Given the description of an element on the screen output the (x, y) to click on. 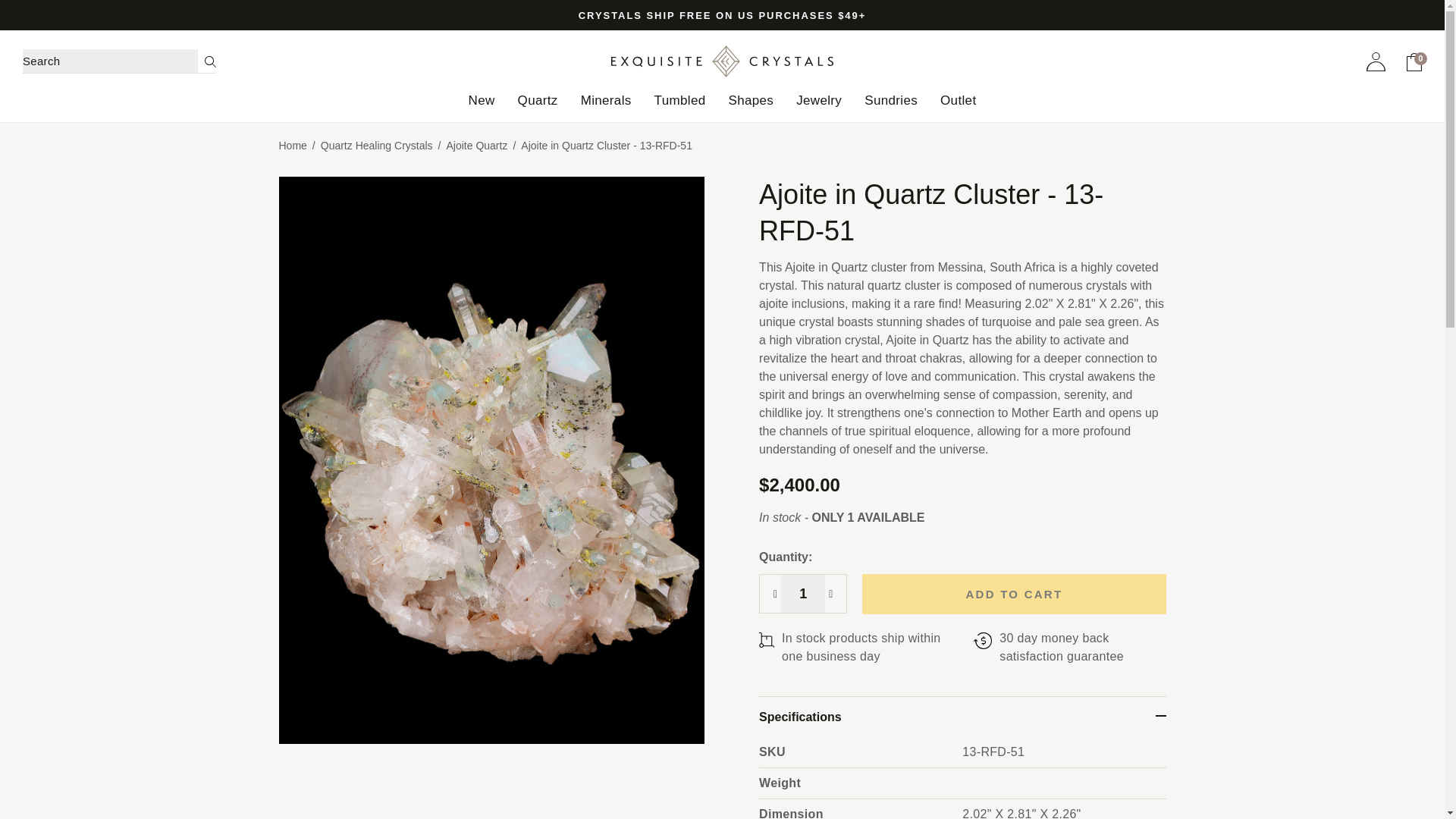
Exquisite Crystals (721, 60)
1 (802, 593)
Account (1376, 60)
Quartz (537, 107)
